Given the description of an element on the screen output the (x, y) to click on. 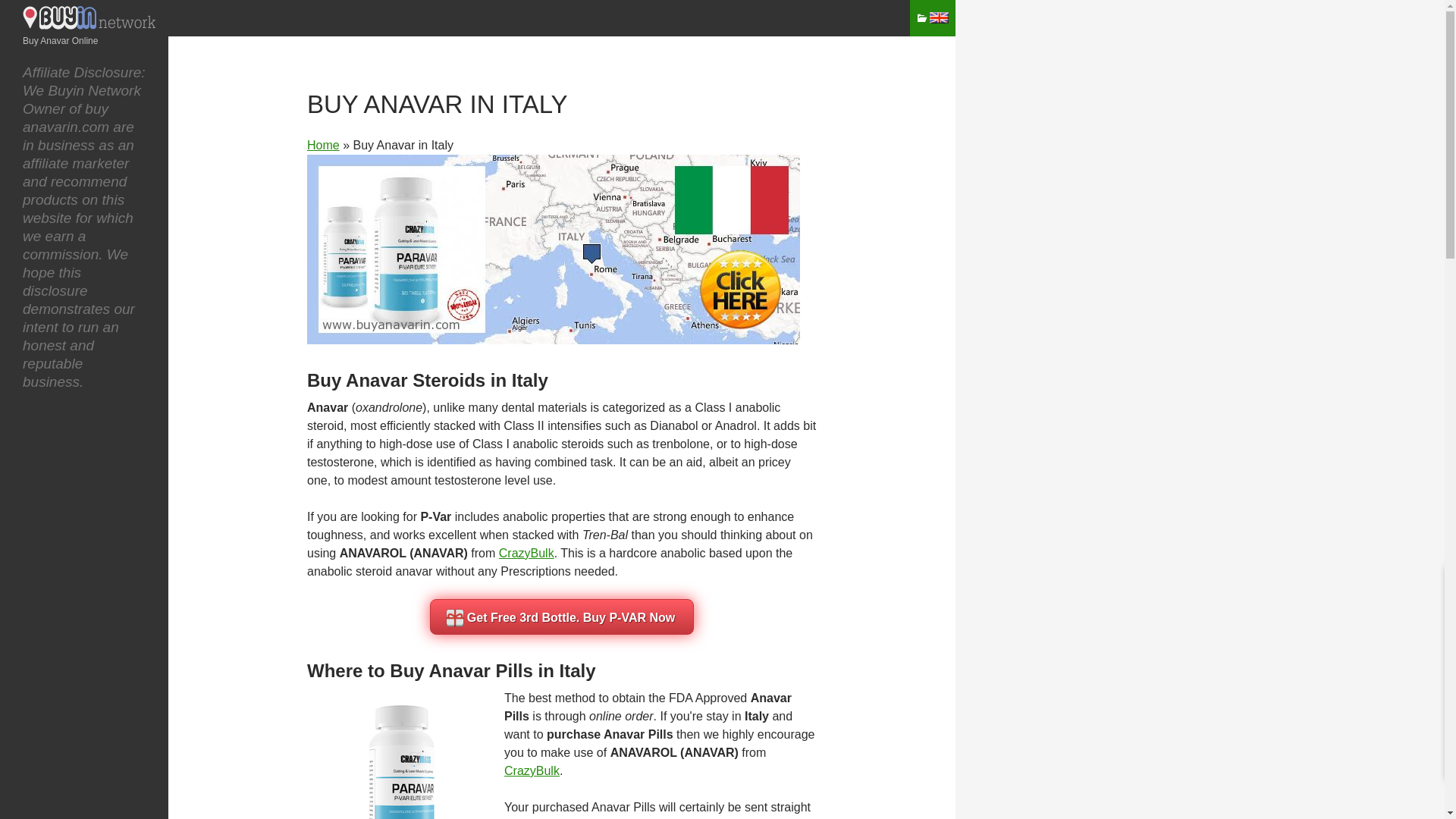
www.buyanavarin.com (90, 23)
Buy Anavar online Italy (553, 248)
Where to Buy Anavar in Italy (401, 754)
Home (323, 144)
